Given the description of an element on the screen output the (x, y) to click on. 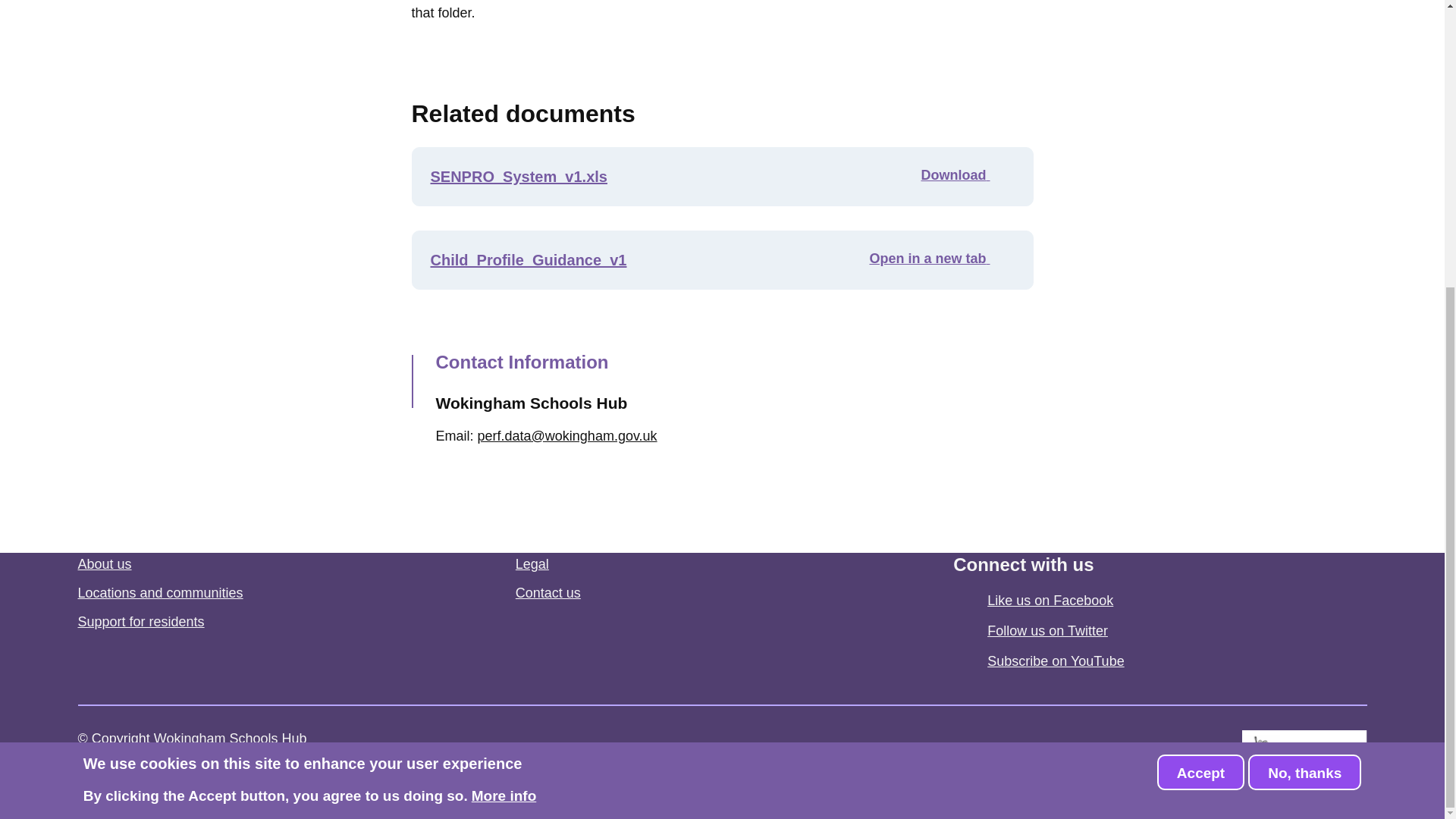
About us (104, 563)
Contact us (547, 592)
Follow us on Twitter (1047, 630)
Legal (531, 563)
Locations and communities (160, 592)
Support for residents (140, 621)
Like us on Facebook (1050, 600)
